Given the description of an element on the screen output the (x, y) to click on. 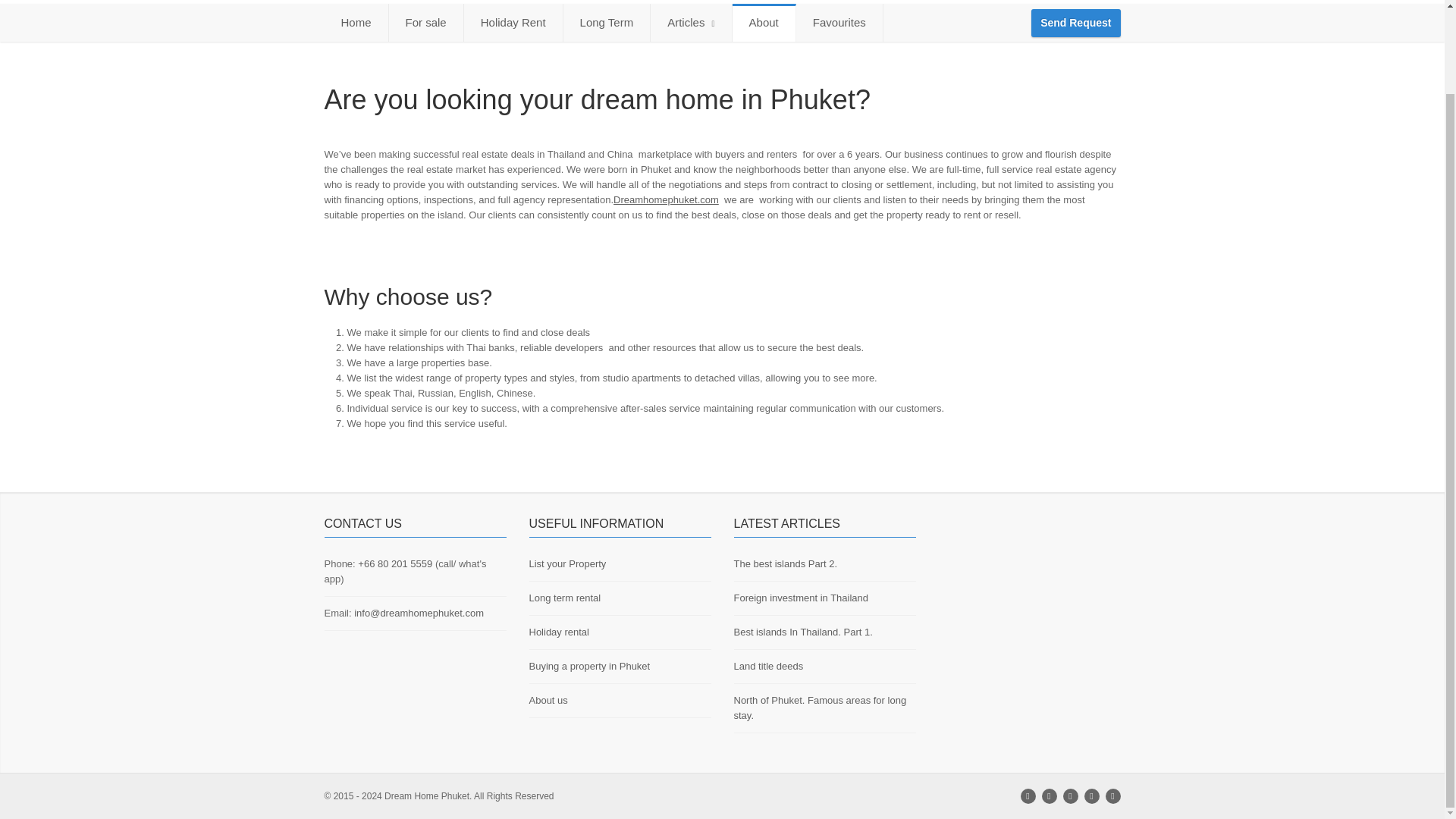
About (764, 22)
Land title deeds (768, 665)
North of Phuket. Famous areas for long stay. (820, 707)
Dreamhomephuket.com (665, 199)
About us (548, 699)
Long term rental (565, 597)
Home (356, 22)
Favourites (839, 22)
Holiday Rent (513, 22)
Foreign investment in Thailand (801, 597)
Articles (691, 22)
Long Term (606, 22)
For sale (426, 22)
The best islands Part 2. (785, 563)
Send Request (1074, 22)
